Given the description of an element on the screen output the (x, y) to click on. 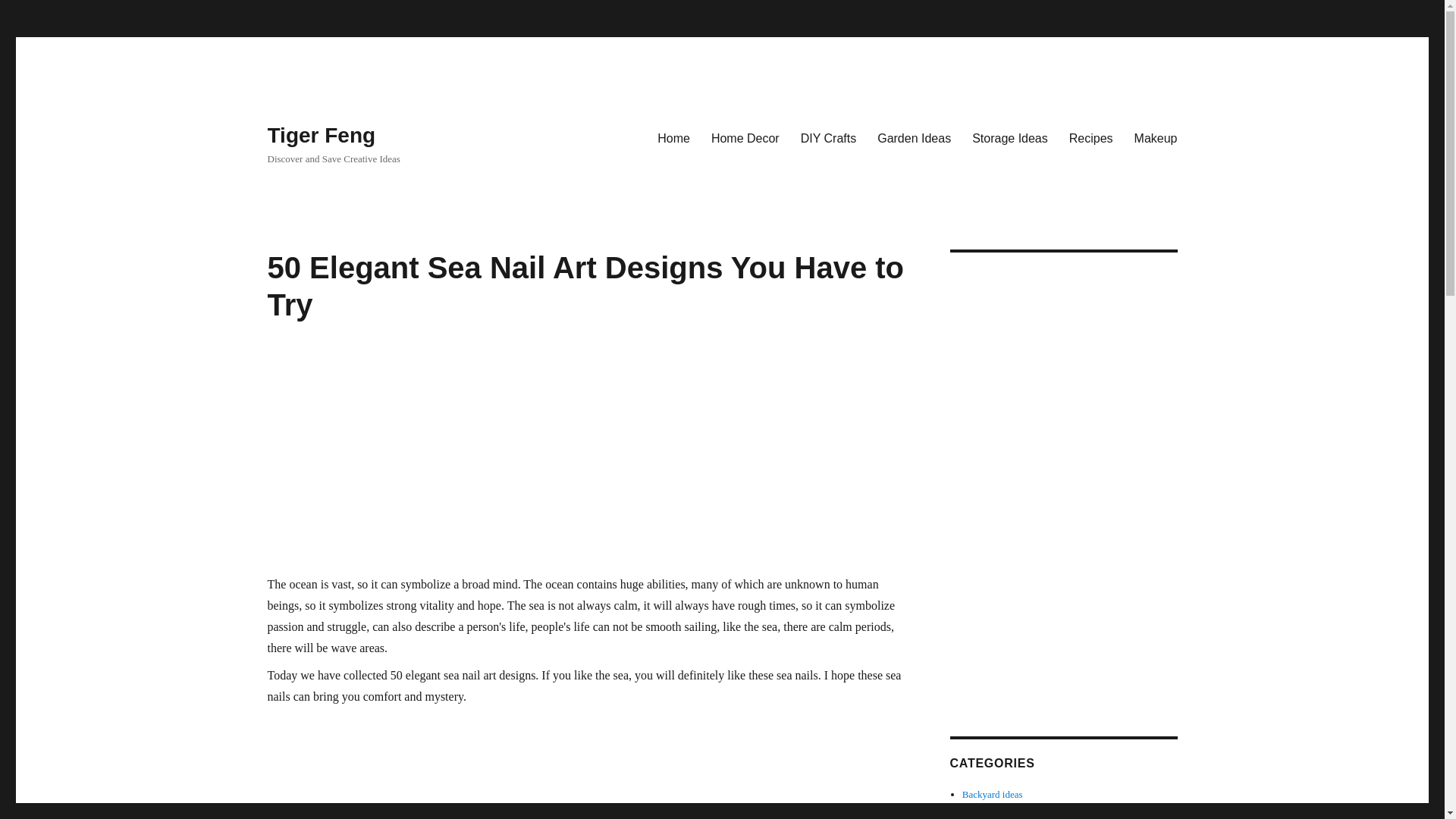
DIY Crafts (828, 137)
Tiger Feng (320, 135)
Advertisement (585, 766)
Home Decor (745, 137)
Makeup (1156, 137)
Storage Ideas (1009, 137)
Recipes (1091, 137)
Garden Ideas (913, 137)
Home (673, 137)
